Given the description of an element on the screen output the (x, y) to click on. 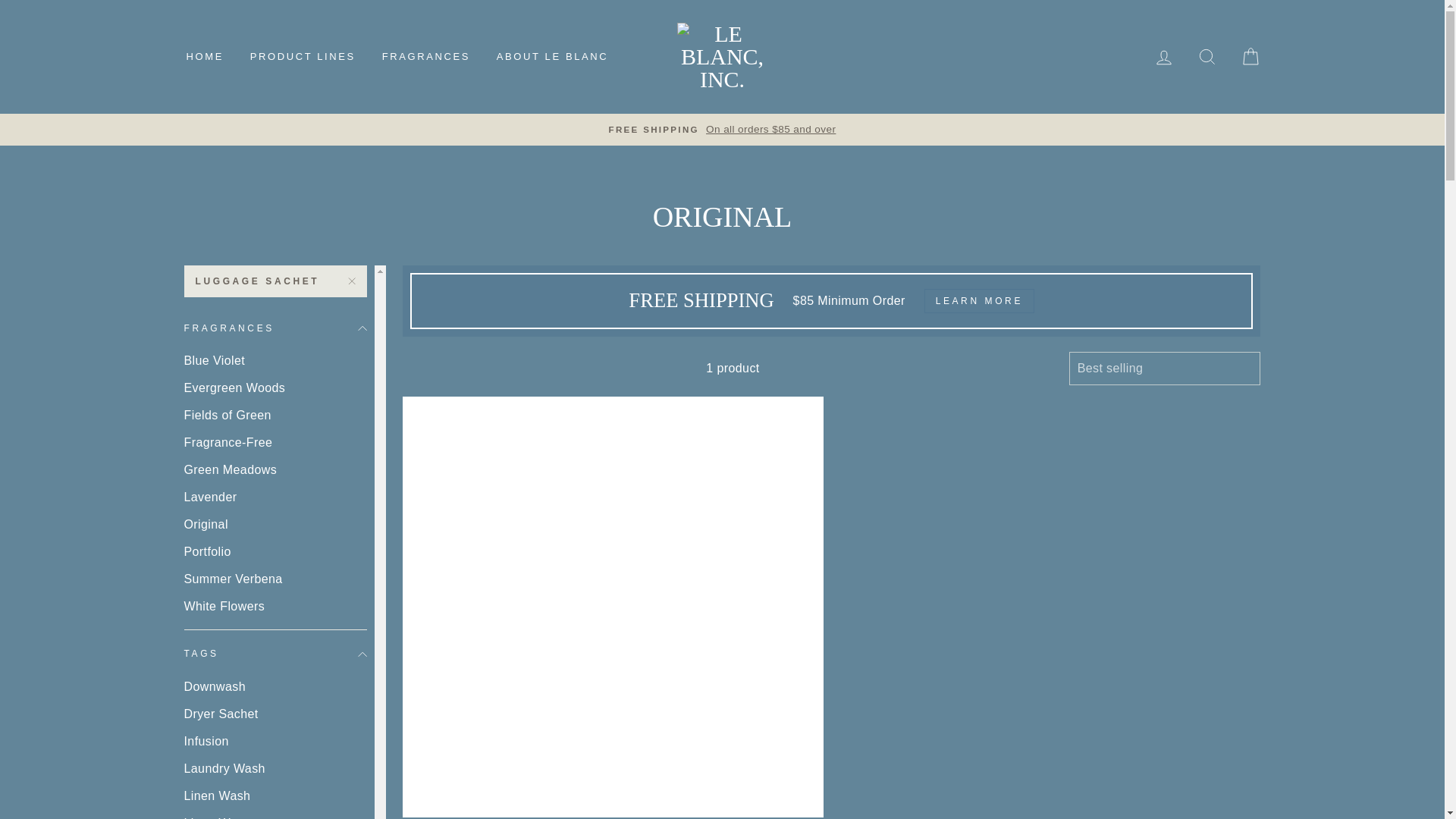
Show products matching tag Dryer Sachet (274, 713)
PRODUCT LINES (302, 56)
Show products matching tag Laundry Wash (274, 768)
Remove tag Luggage Sachet (274, 281)
Show products matching tag Downwash (274, 686)
Show products matching tag Infusion (274, 741)
HOME (204, 56)
